Given the description of an element on the screen output the (x, y) to click on. 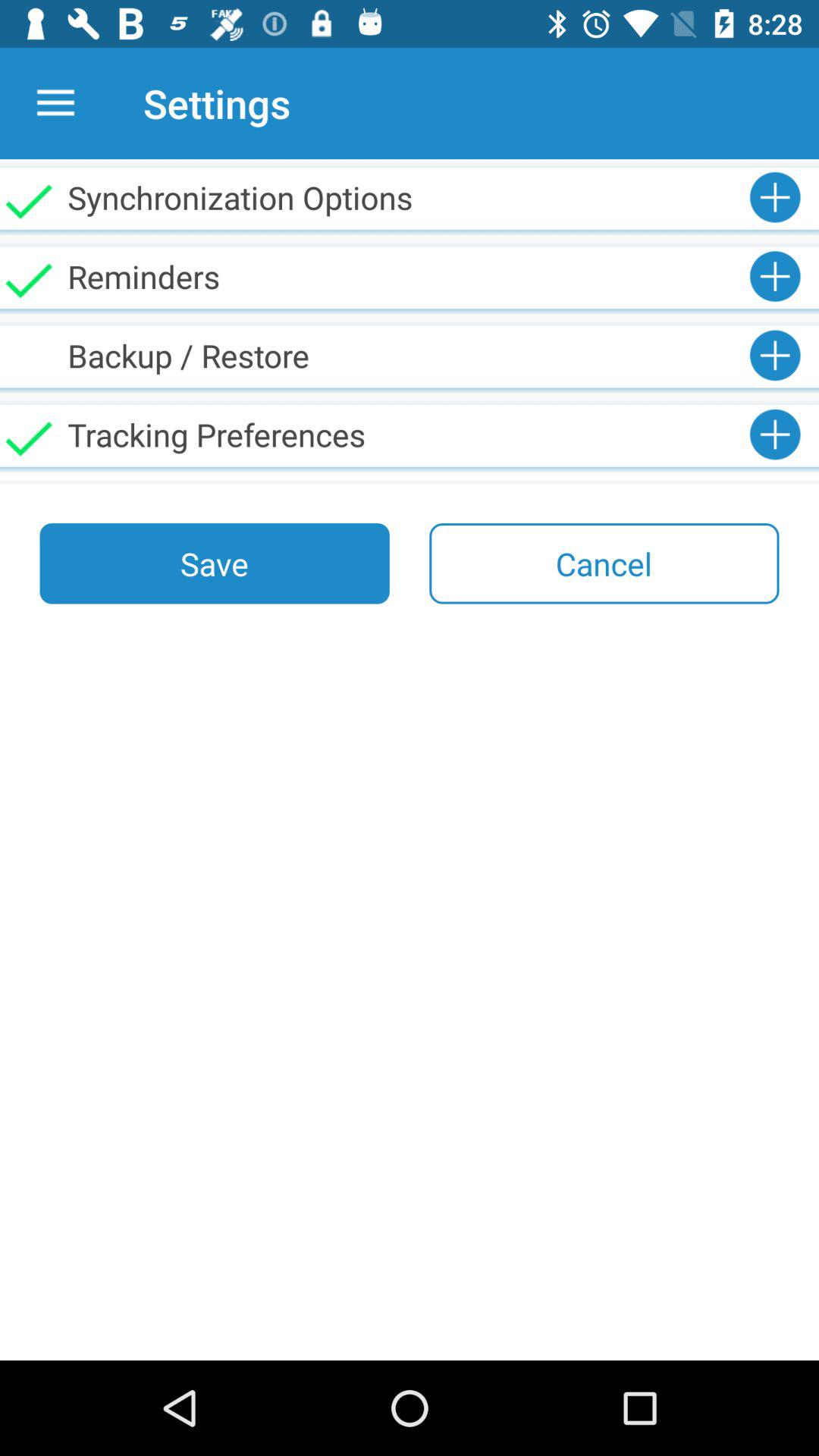
tap the save item (214, 563)
